Given the description of an element on the screen output the (x, y) to click on. 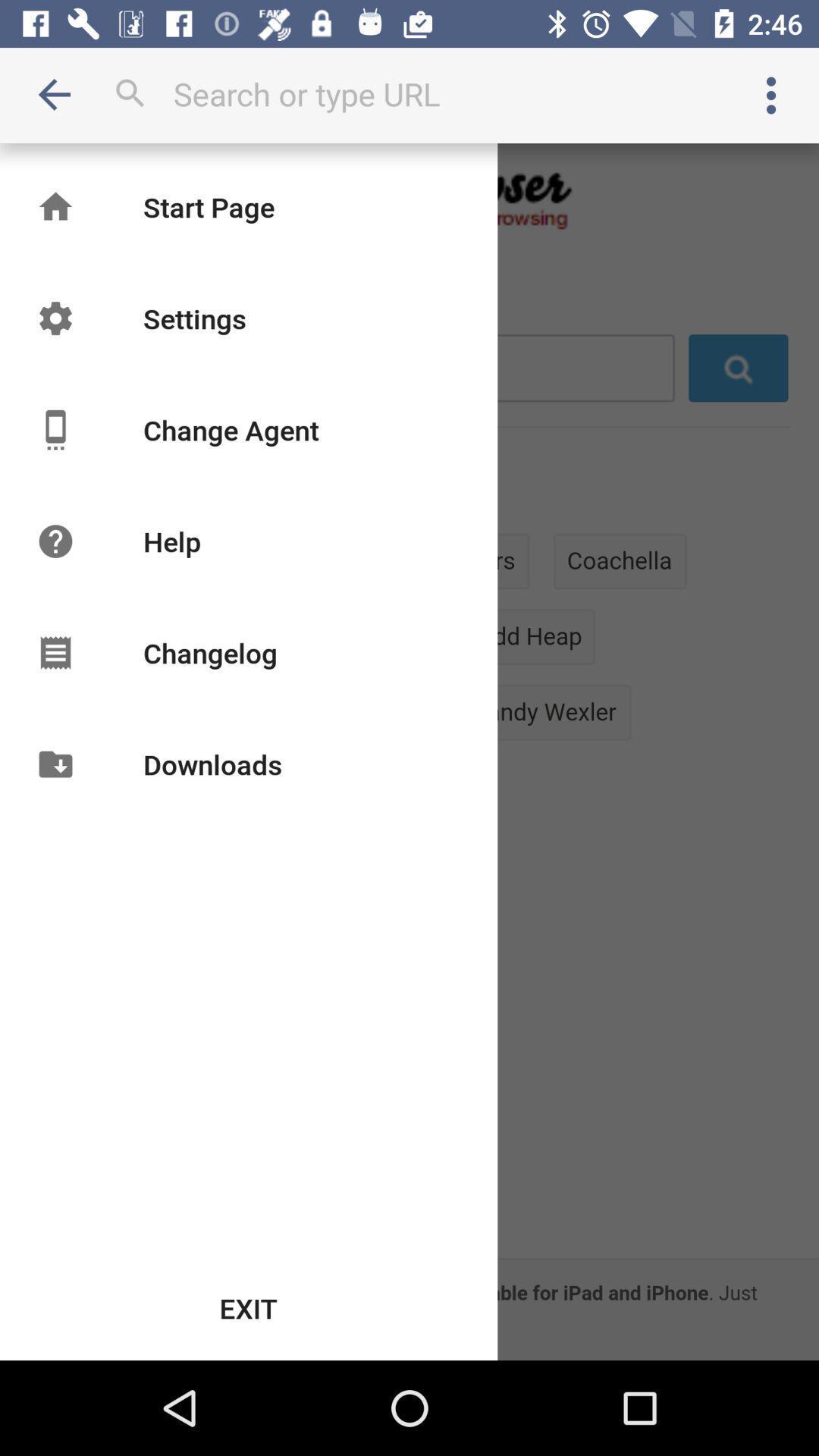
turn off the downloads (212, 764)
